Given the description of an element on the screen output the (x, y) to click on. 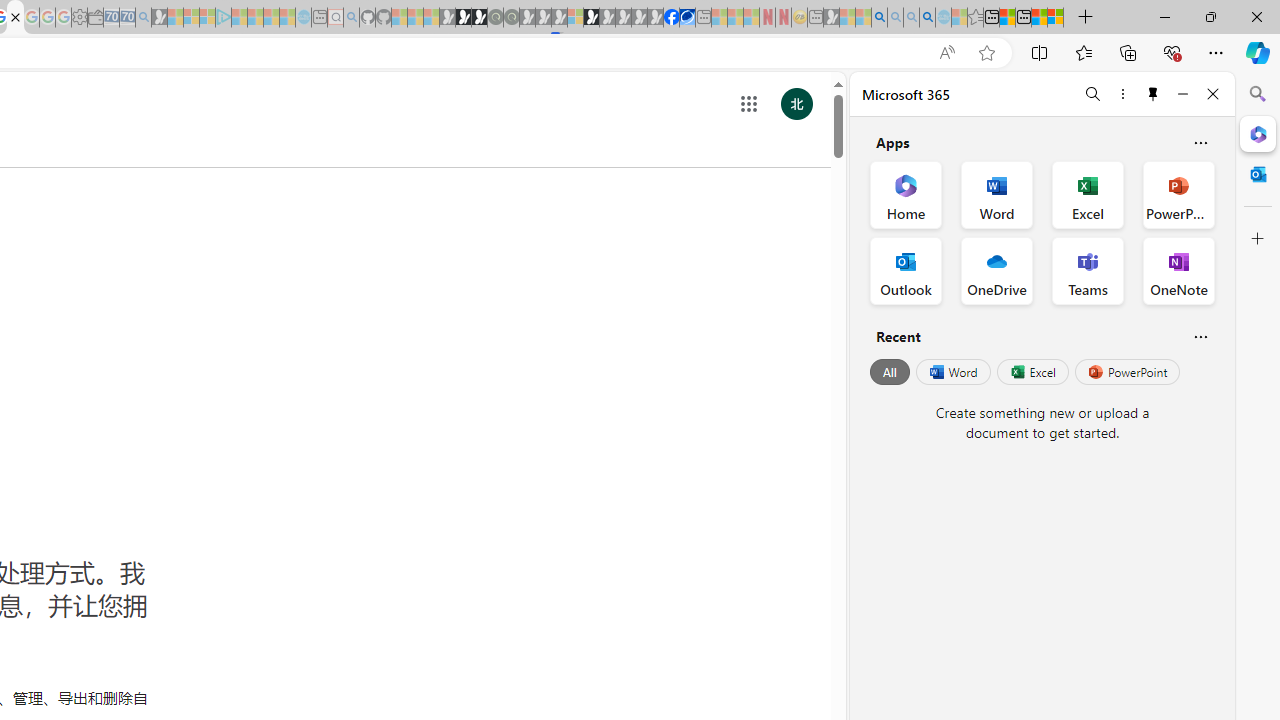
Settings - Sleeping (79, 17)
Outlook Office App (906, 270)
PowerPoint Office App (1178, 194)
PowerPoint (1127, 372)
Future Focus Report 2024 - Sleeping (511, 17)
